Given the description of an element on the screen output the (x, y) to click on. 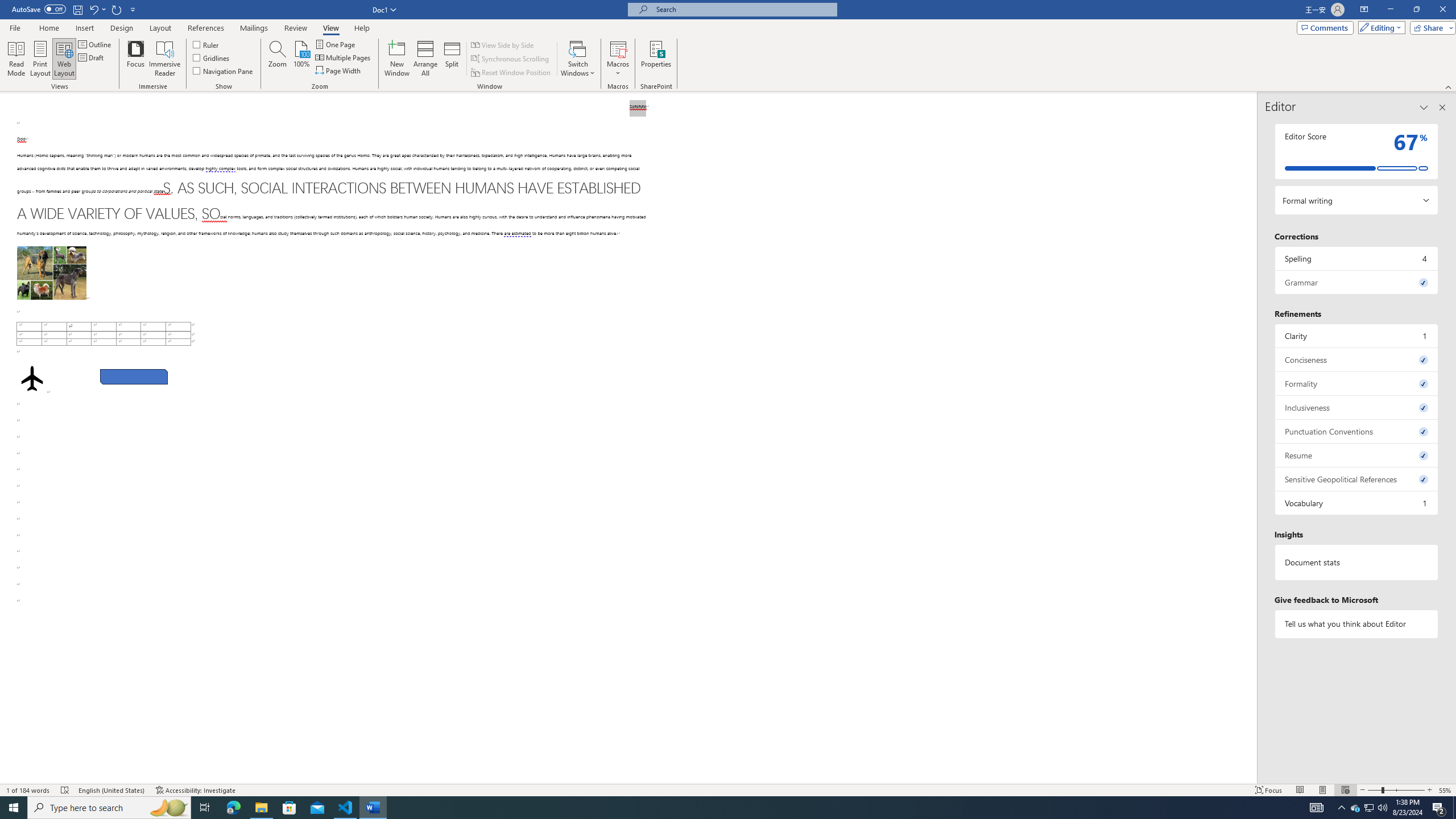
Zoom 55% (1445, 790)
Multiple Pages (343, 56)
Synchronous Scrolling (510, 58)
Tell us what you think about Editor (1356, 624)
Grammar, 0 issues. Press space or enter to review items. (1356, 282)
Formality, 0 issues. Press space or enter to review items. (1356, 383)
Zoom... (276, 58)
Airplane with solid fill (31, 378)
Language English (United States) (111, 790)
